Given the description of an element on the screen output the (x, y) to click on. 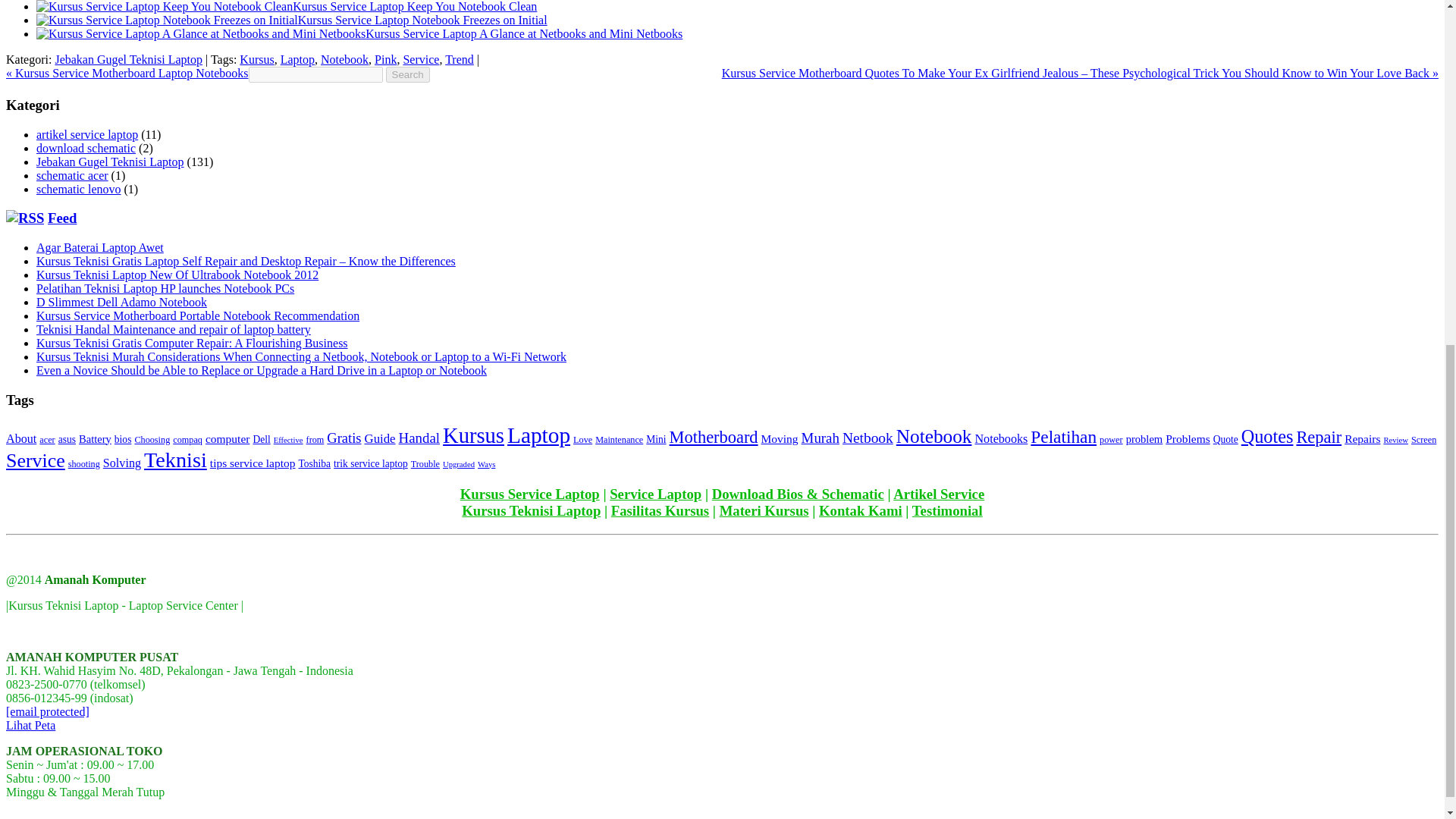
Artikel Cara Service Laptop (938, 494)
Kursus Service Laptop Keep You Notebook Clean (414, 6)
schematic lenovo (78, 188)
Kursus Service Laptop (529, 494)
Jebakan Gugel Teknisi Laptop (110, 161)
schematic acer (71, 174)
Service (421, 59)
Search (407, 74)
Feed (62, 217)
artikel service laptop (87, 133)
